Given the description of an element on the screen output the (x, y) to click on. 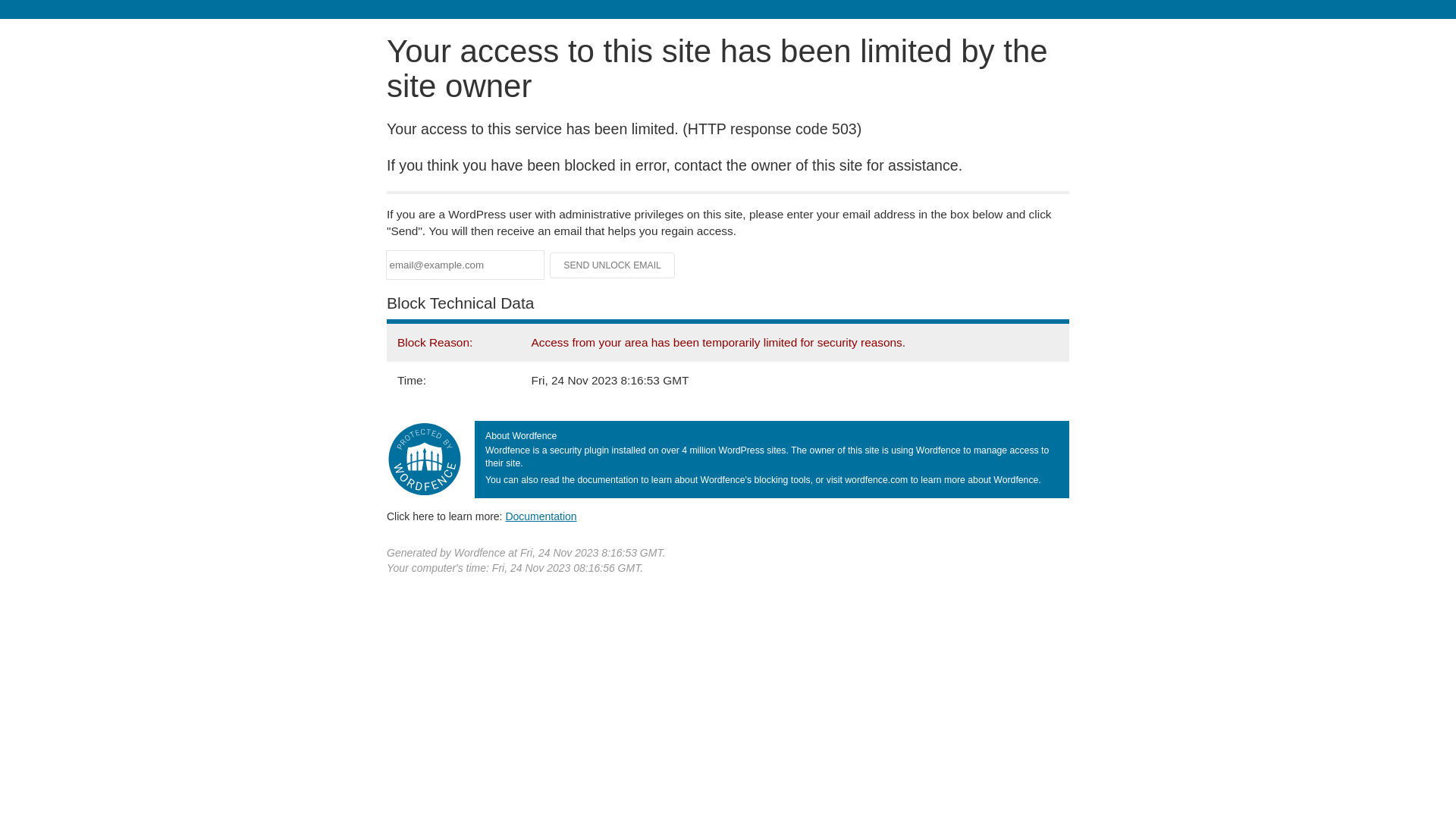
Send Unlock Email Element type: text (612, 265)
Documentation Element type: text (540, 516)
